Given the description of an element on the screen output the (x, y) to click on. 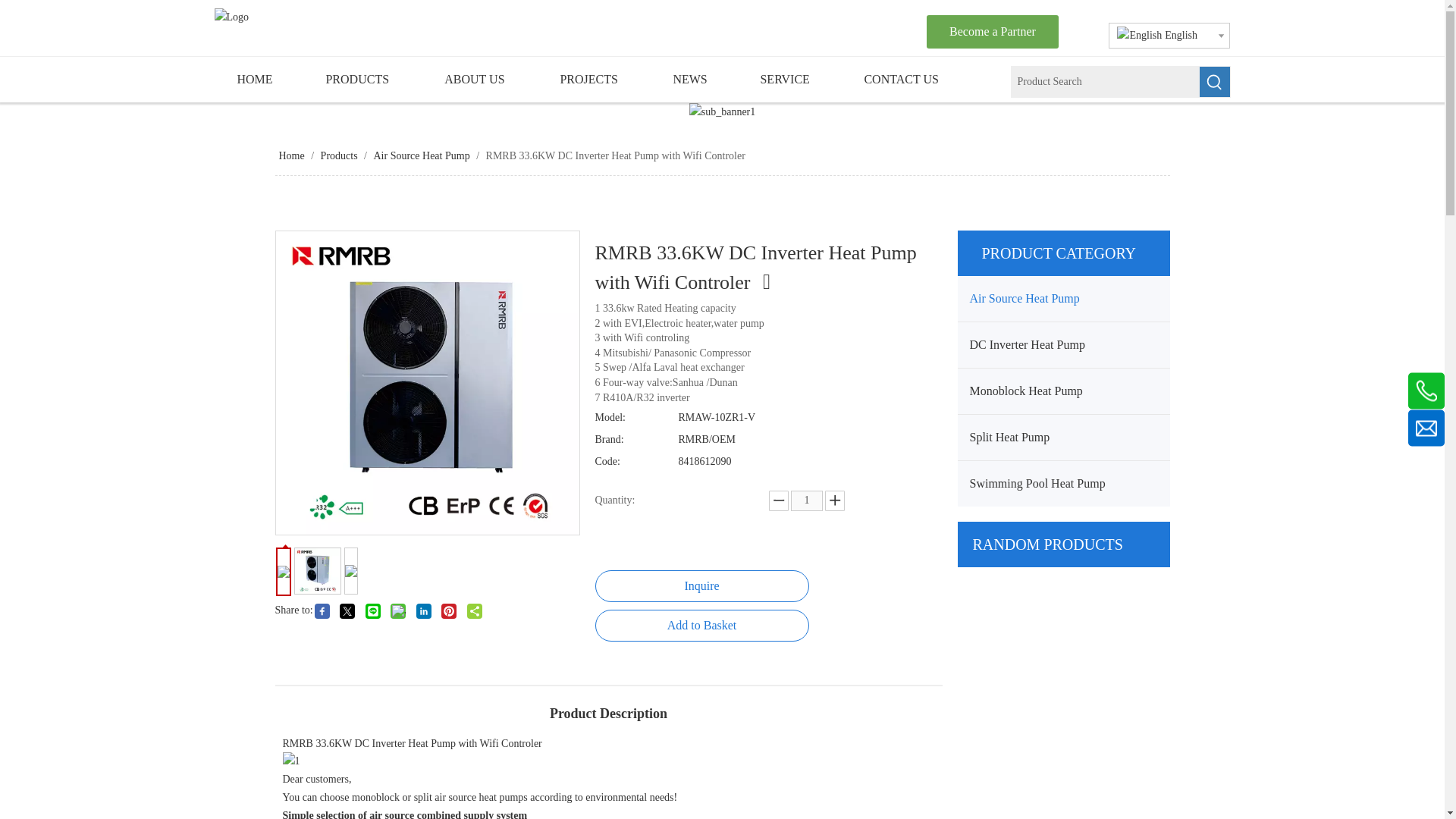
Swimming Pool Heat Pump (1062, 483)
HOME (257, 79)
Air Source Heat Pump (1062, 298)
Monoblock Heat Pump (1062, 391)
NEWS (693, 79)
ABOUT US (478, 79)
SERVICE (789, 79)
Split Heat Pump (1062, 437)
Become a Partner (992, 31)
1 (806, 500)
PROJECTS (593, 79)
CONTACT US (906, 79)
PRODUCTS (361, 79)
DC Inverter Heat Pump (1062, 344)
